Given the description of an element on the screen output the (x, y) to click on. 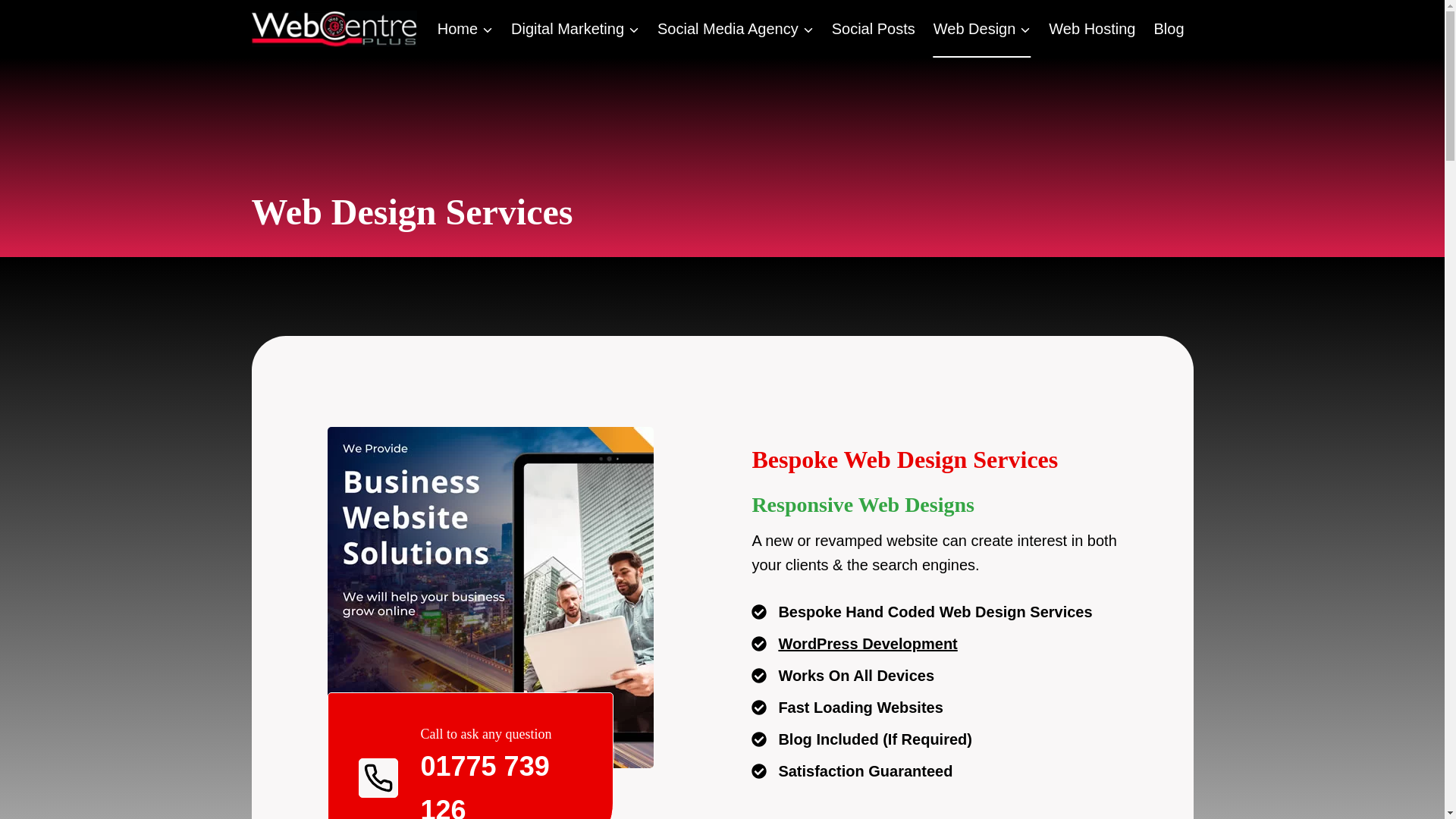
Digital Marketing (574, 28)
WordPress Development (853, 643)
Social Posts (873, 28)
Web Hosting (1091, 28)
Web Design (982, 28)
Social Media Agency (734, 28)
Home (465, 28)
